Given the description of an element on the screen output the (x, y) to click on. 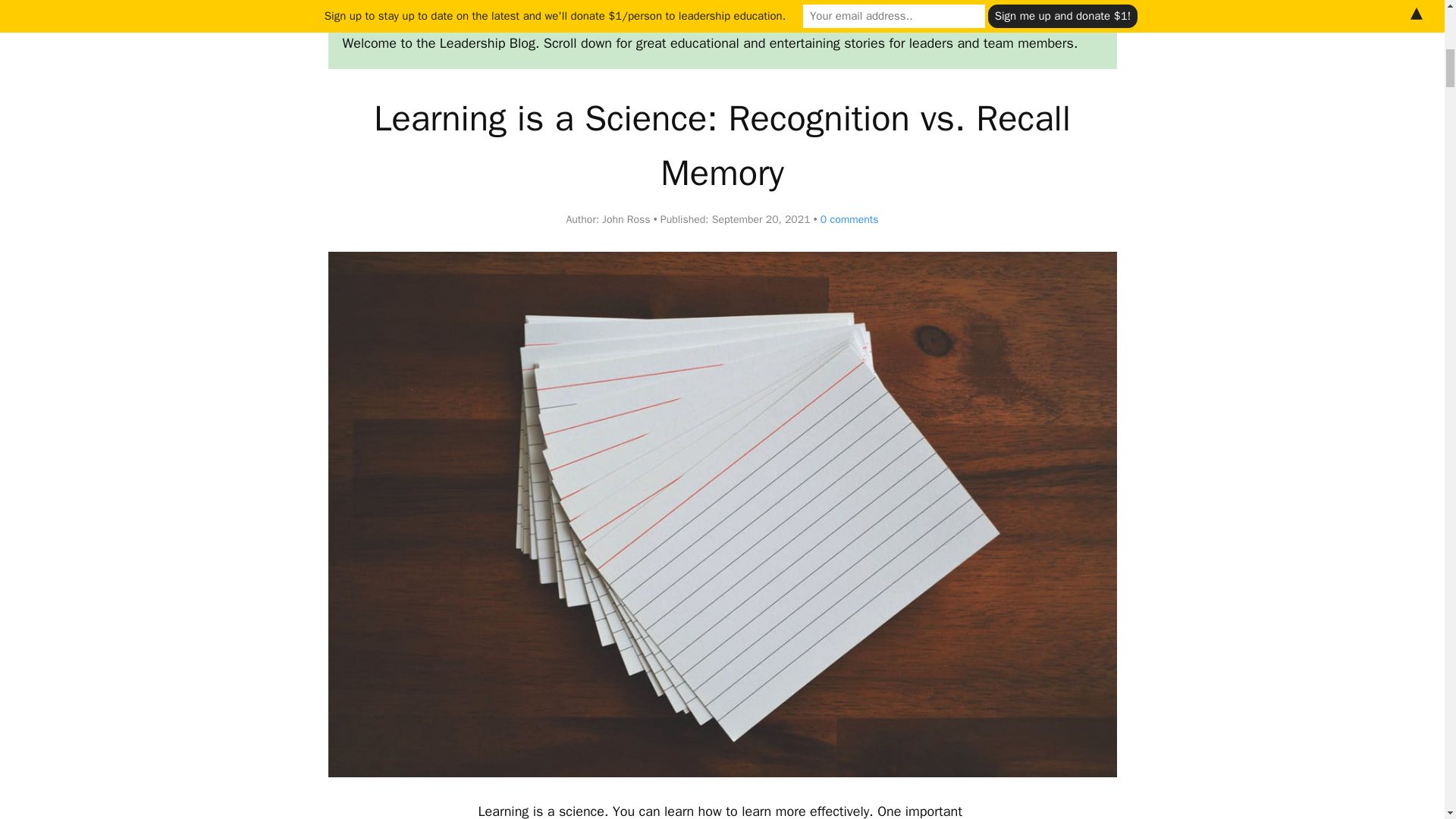
2021-09-20 (760, 219)
0 comments (846, 219)
Learning is a Science: Recognition vs. Recall Memory (722, 145)
